Given the description of an element on the screen output the (x, y) to click on. 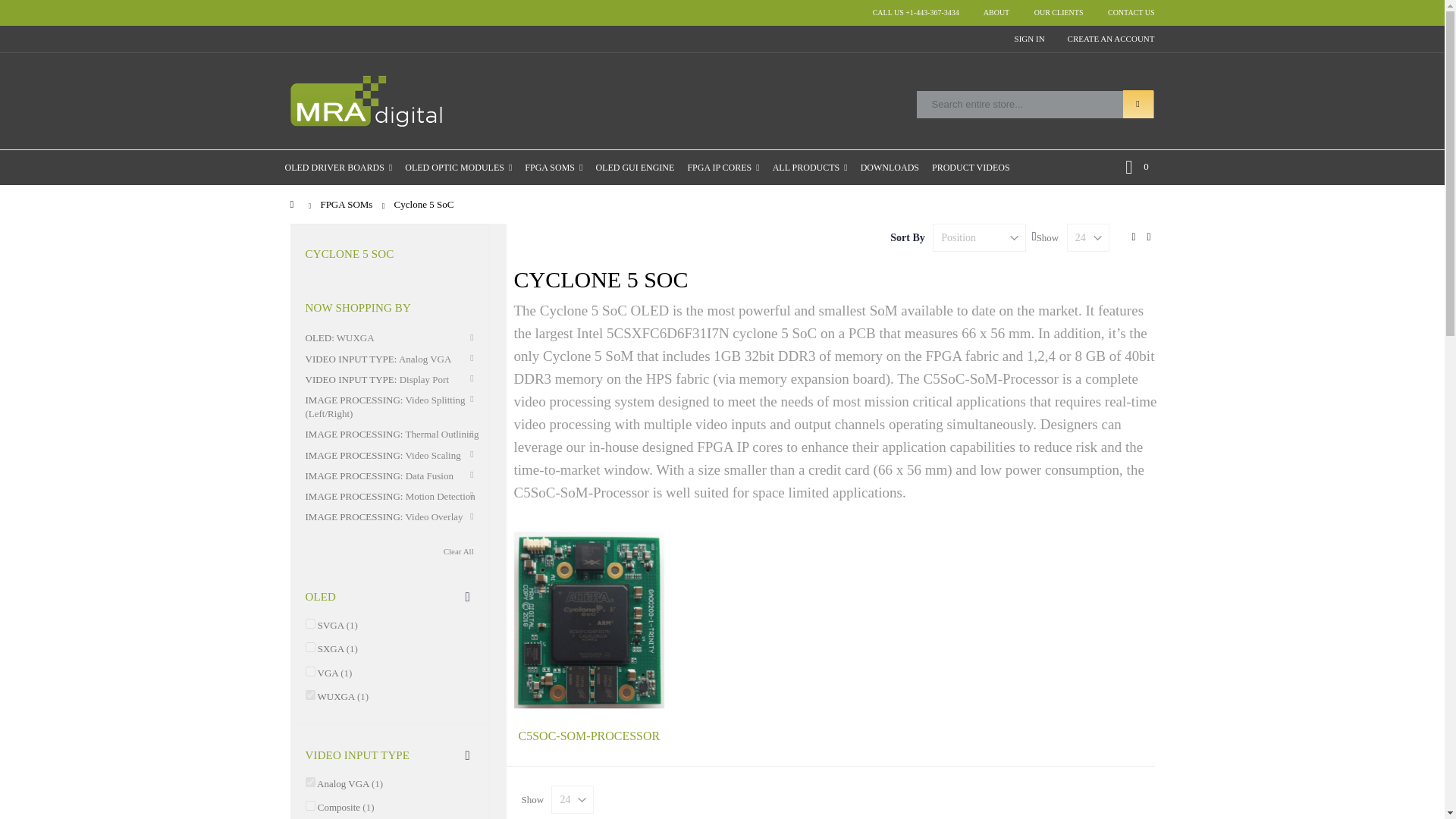
on (309, 623)
SIGN IN (1030, 39)
CREATE AN ACCOUNT (1105, 39)
OUR CLIENTS (1058, 12)
on (309, 671)
on (309, 782)
Search (1137, 103)
on (309, 646)
on (309, 805)
on (309, 695)
OLED DRIVER BOARDS (338, 167)
ABOUT (1136, 167)
Search (996, 12)
CONTACT US (1137, 103)
